Given the description of an element on the screen output the (x, y) to click on. 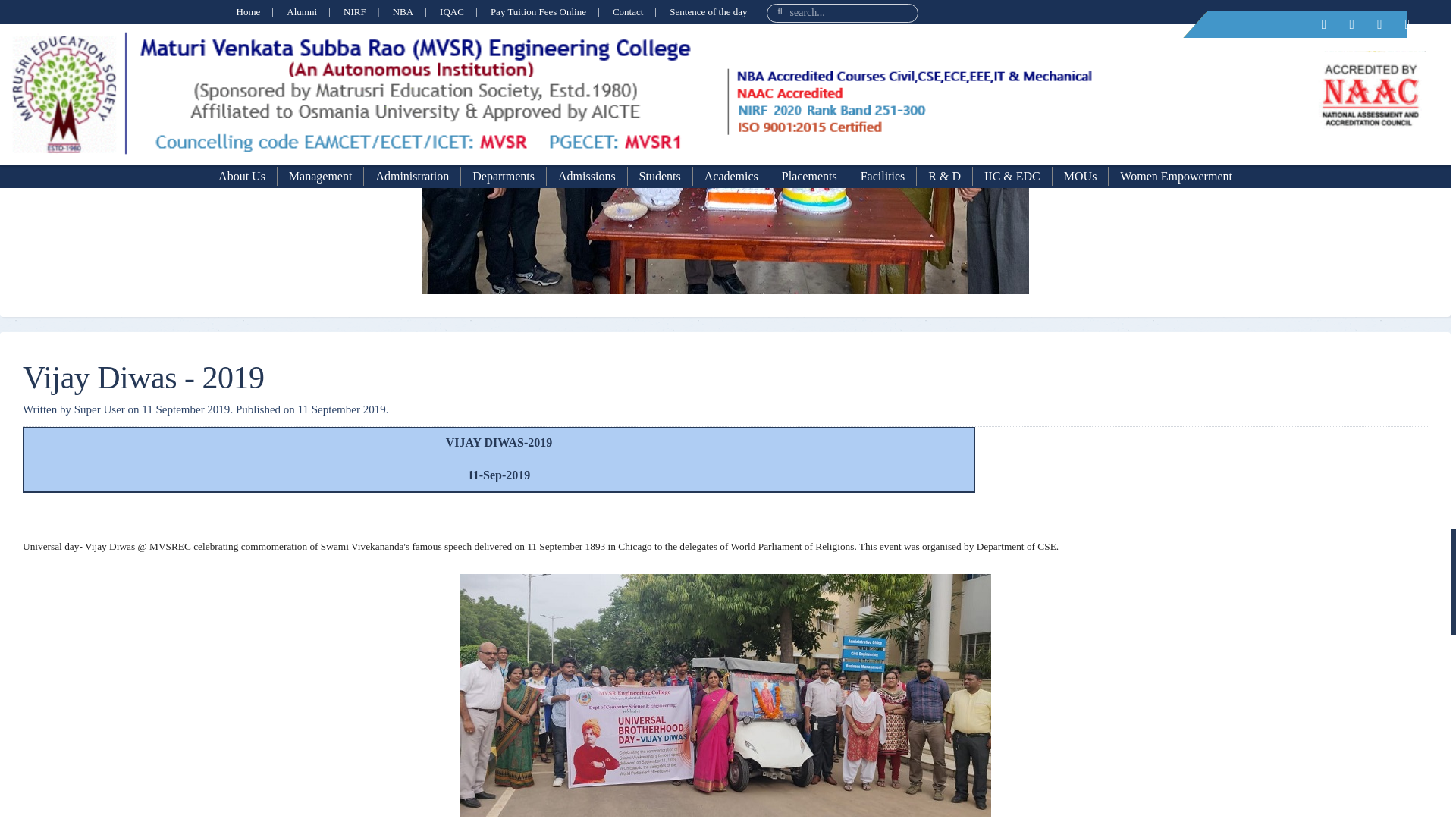
Vijay Diwas - 2019 (143, 377)
